Given the description of an element on the screen output the (x, y) to click on. 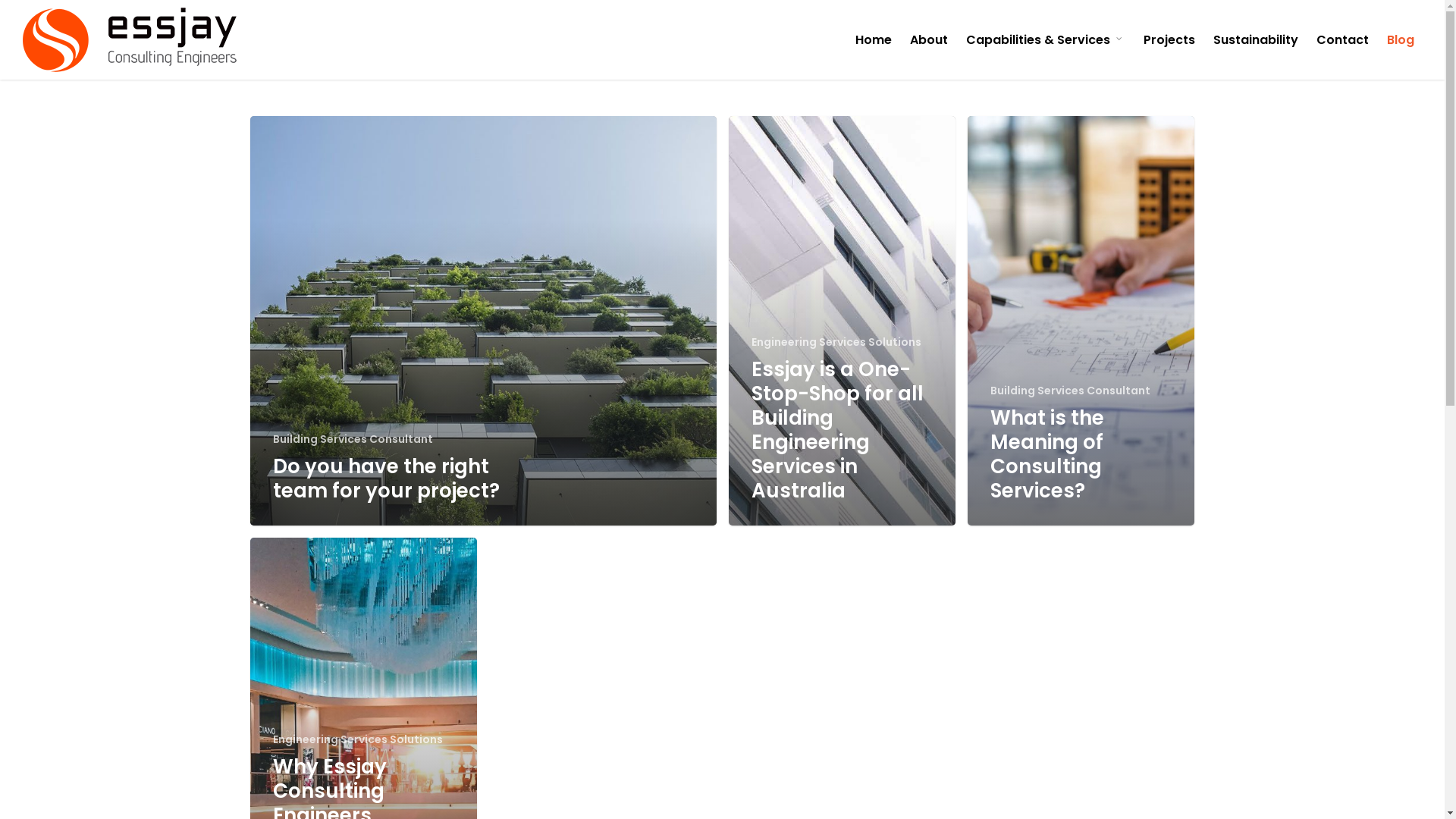
Projects Element type: text (1169, 39)
What is the Meaning of Consulting Services? Element type: text (1047, 454)
Contact Element type: text (1342, 39)
Building Services Consultant Element type: text (353, 439)
Building Services Consultant Element type: text (1070, 390)
Engineering Services Solutions Element type: text (835, 342)
Blog Element type: text (1400, 39)
About Element type: text (928, 39)
Capabilities & Services Element type: text (1045, 39)
Home Element type: text (873, 39)
Do you have the right team for your project? Element type: text (386, 478)
Engineering Services Solutions Element type: text (357, 739)
Sustainability Element type: text (1255, 39)
